Given the description of an element on the screen output the (x, y) to click on. 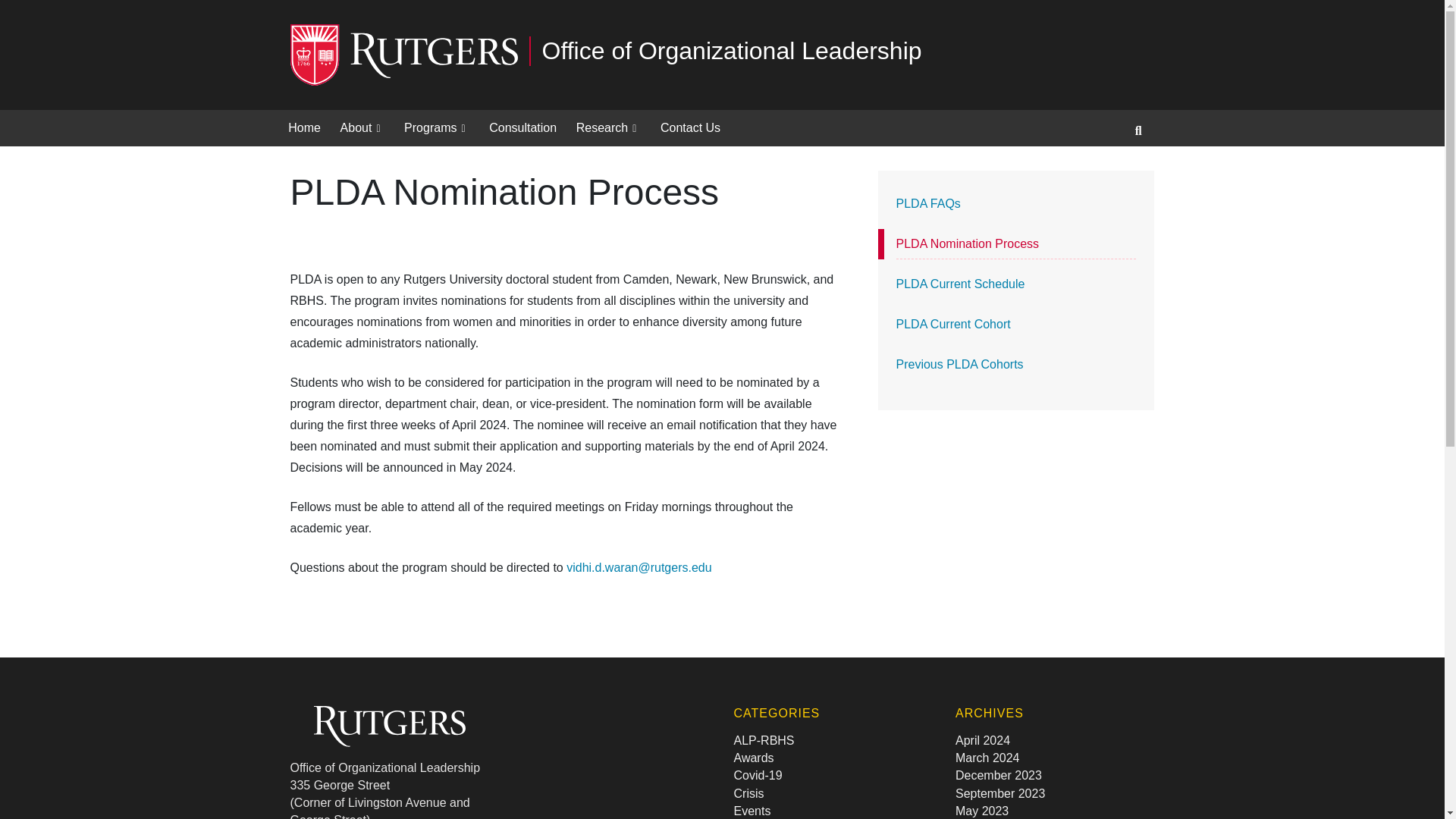
Programs (436, 127)
March 2024 (987, 757)
Consultation (522, 127)
About (362, 127)
Office of Organizational Leadership (721, 54)
Research (608, 127)
PLDA Current Cohort (1016, 324)
PLDA Nomination Process (1016, 244)
Previous PLDA Cohorts (1016, 364)
Contact Us (690, 127)
Home (304, 127)
PLDA Current Schedule (1016, 284)
PLDA FAQs (1016, 204)
April 2024 (982, 739)
